Given the description of an element on the screen output the (x, y) to click on. 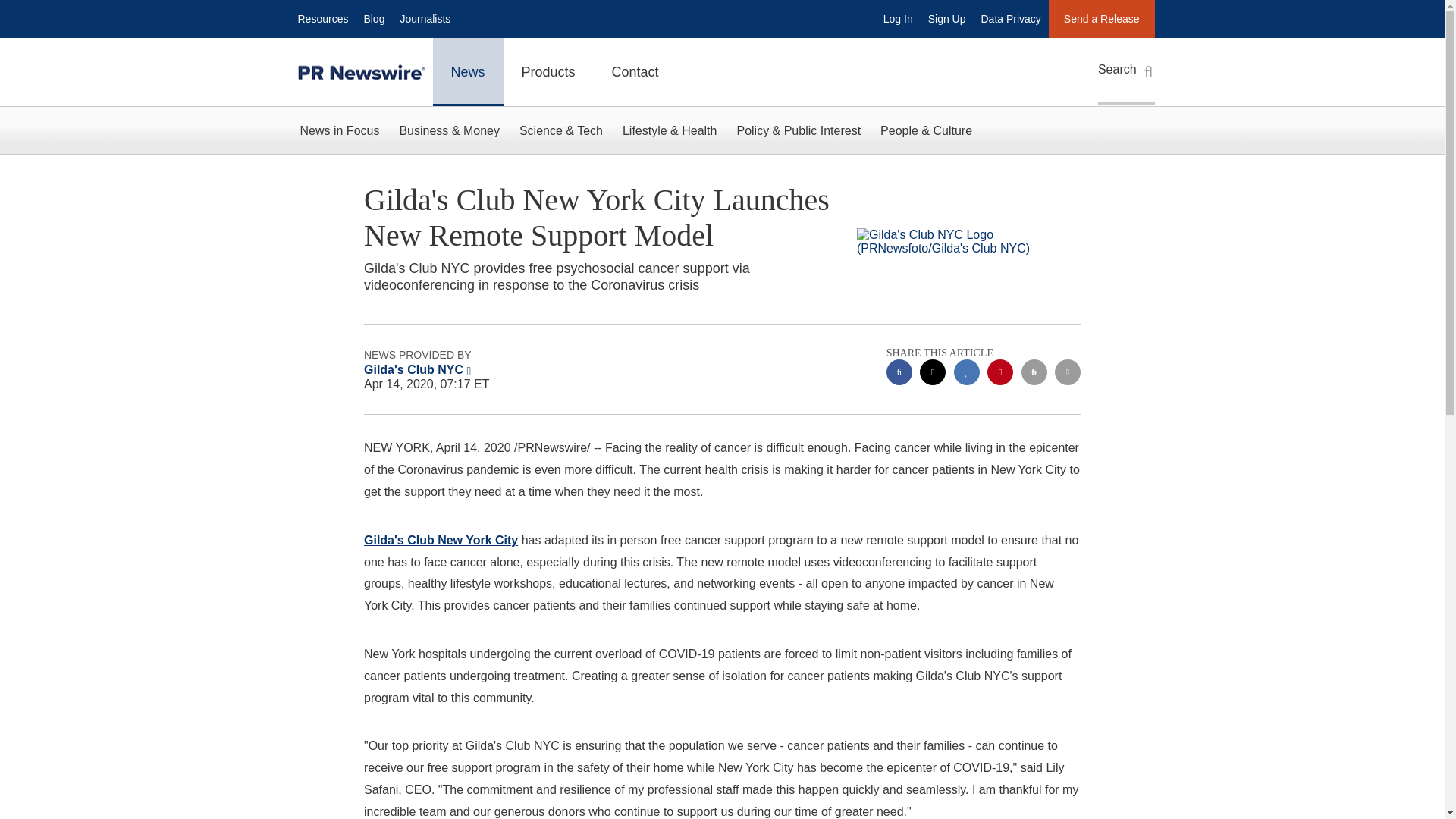
News in Focus (338, 130)
